Given the description of an element on the screen output the (x, y) to click on. 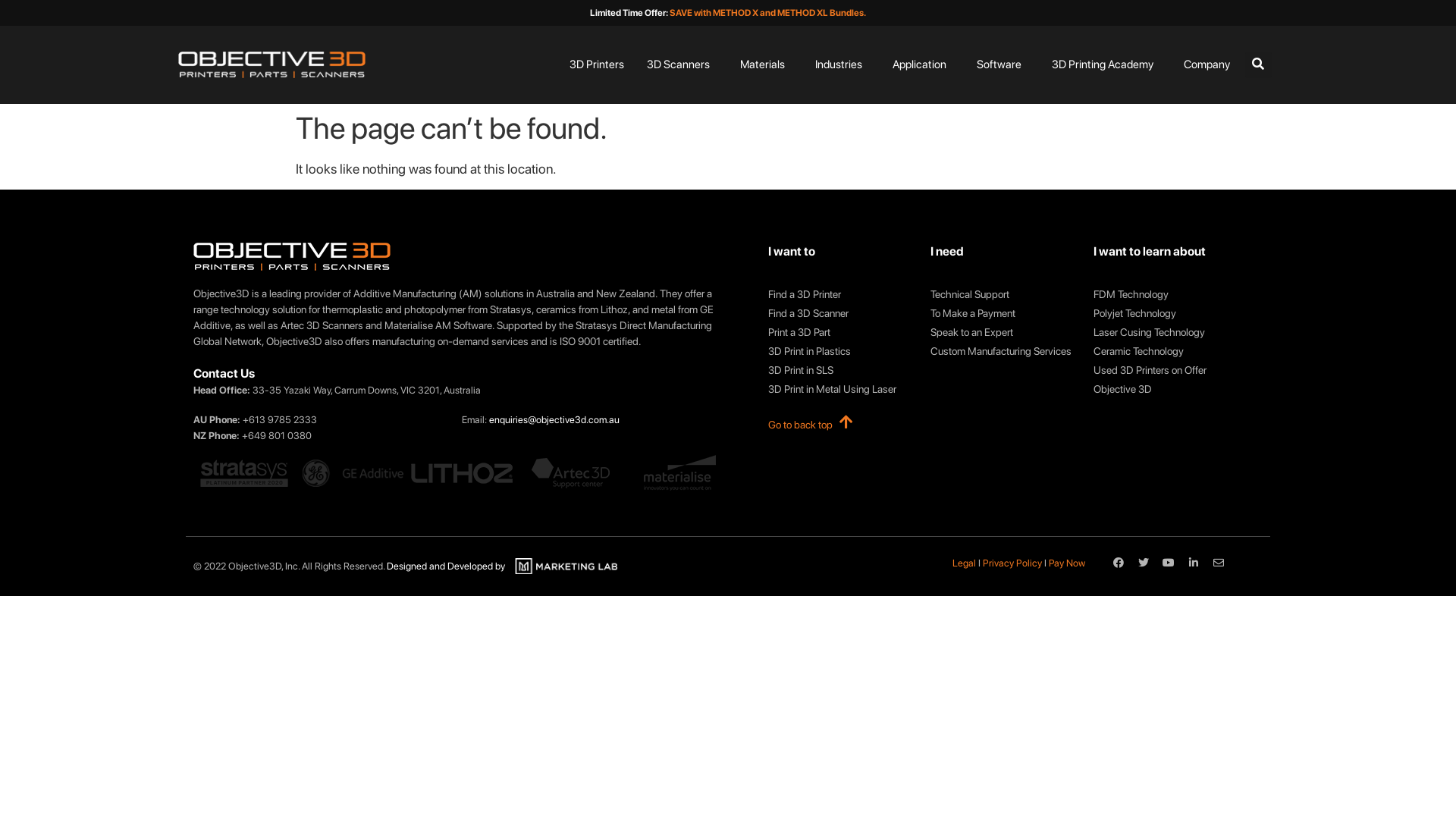
Technical Support Element type: text (1004, 294)
Laser Cusing Technology Element type: text (1165, 332)
Privacy Policy Element type: text (1011, 562)
To Make a Payment Element type: text (1004, 313)
Find a 3D Printer Element type: text (842, 294)
Materials Element type: text (762, 64)
Go to back top Element type: text (800, 424)
Application Element type: text (918, 64)
enquiries@objective3d.com.au Element type: text (554, 419)
Speak to an Expert Element type: text (1004, 332)
3D Print in Plastics Element type: text (842, 351)
Objective 3D Element type: text (1165, 389)
Legal Element type: text (963, 562)
Software Element type: text (999, 64)
FDM Technology Element type: text (1165, 294)
Find a 3D Scanner Element type: text (842, 313)
3D Printers Element type: text (595, 64)
3D Print in Metal Using Laser Element type: text (842, 389)
Print a 3D Part Element type: text (842, 332)
3D Print in SLS Element type: text (842, 370)
Company Element type: text (1205, 64)
3D Printing Academy Element type: text (1101, 64)
Used 3D Printers on Offer Element type: text (1165, 370)
Custom Manufacturing Services Element type: text (1004, 351)
Ceramic Technology Element type: text (1165, 351)
Pay Now Element type: text (1066, 562)
Polyjet Technology Element type: text (1165, 313)
3D Scanners Element type: text (677, 64)
Industries Element type: text (837, 64)
